Given the description of an element on the screen output the (x, y) to click on. 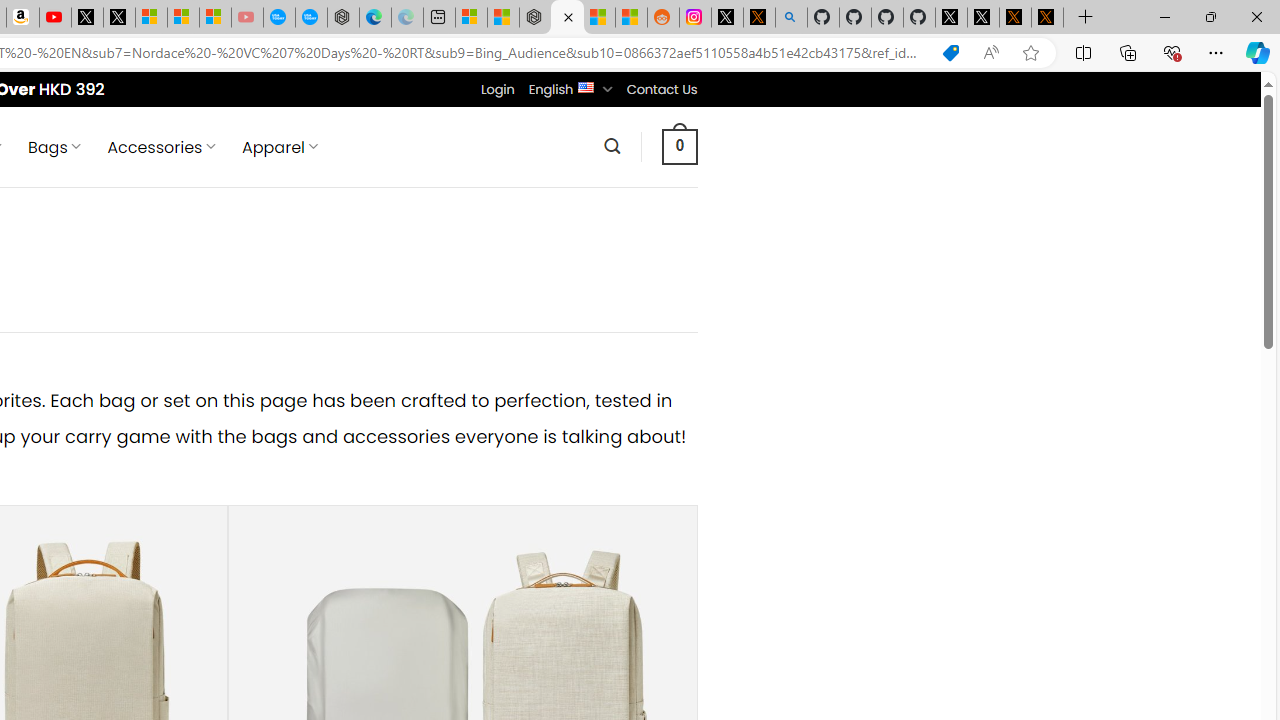
Nordace - Best Sellers (566, 17)
Profile / X (950, 17)
Gloom - YouTube - Sleeping (246, 17)
This site has coupons! Shopping in Microsoft Edge (950, 53)
  0   (679, 146)
Microsoft account | Microsoft Account Privacy Settings (471, 17)
Opinion: Op-Ed and Commentary - USA TODAY (279, 17)
